Given the description of an element on the screen output the (x, y) to click on. 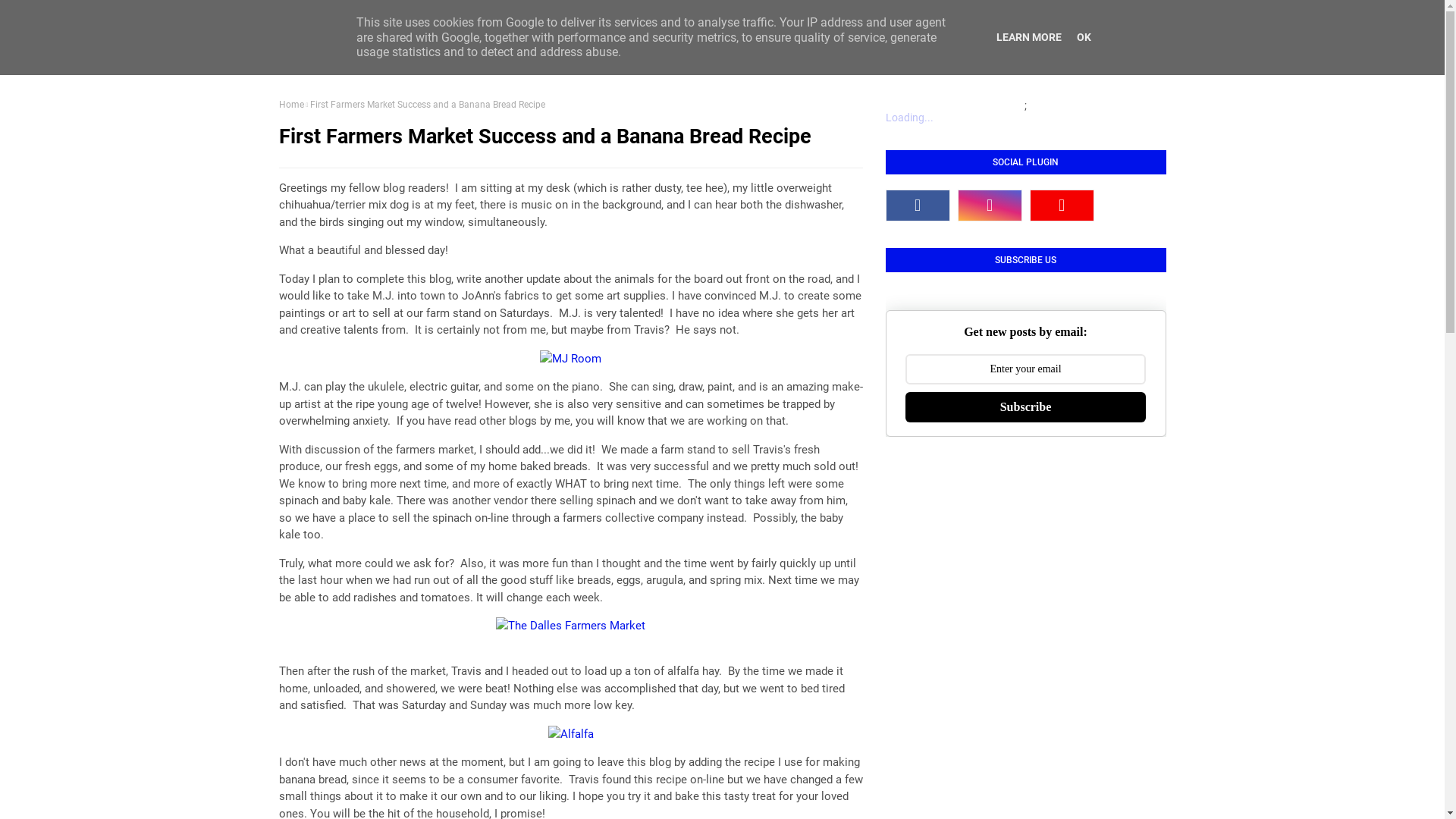
youtube Element type: hover (1061, 205)
facebook Element type: hover (917, 205)
OK Element type: text (1083, 37)
Alfalfa Element type: hover (570, 733)
Home Element type: text (291, 104)
LEARN MORE Element type: text (1028, 37)
First Farmers Market Element type: hover (570, 625)
instagram Element type: hover (989, 205)
MJ Room Element type: hover (570, 358)
Subscribe Element type: text (1025, 406)
Loading... Element type: text (909, 117)
